Given the description of an element on the screen output the (x, y) to click on. 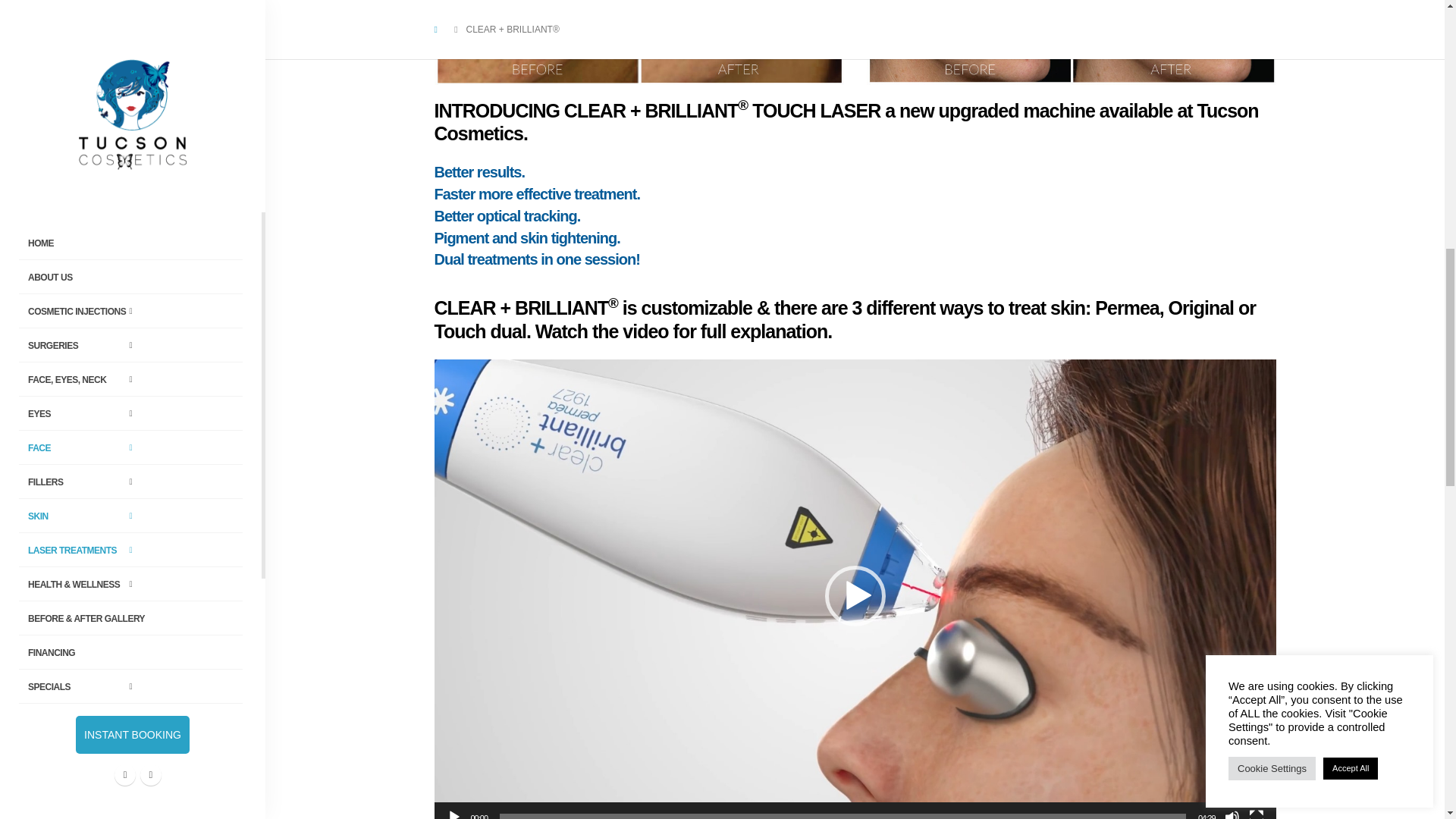
Play (453, 814)
Fullscreen (1255, 814)
Mute (1231, 814)
